Given the description of an element on the screen output the (x, y) to click on. 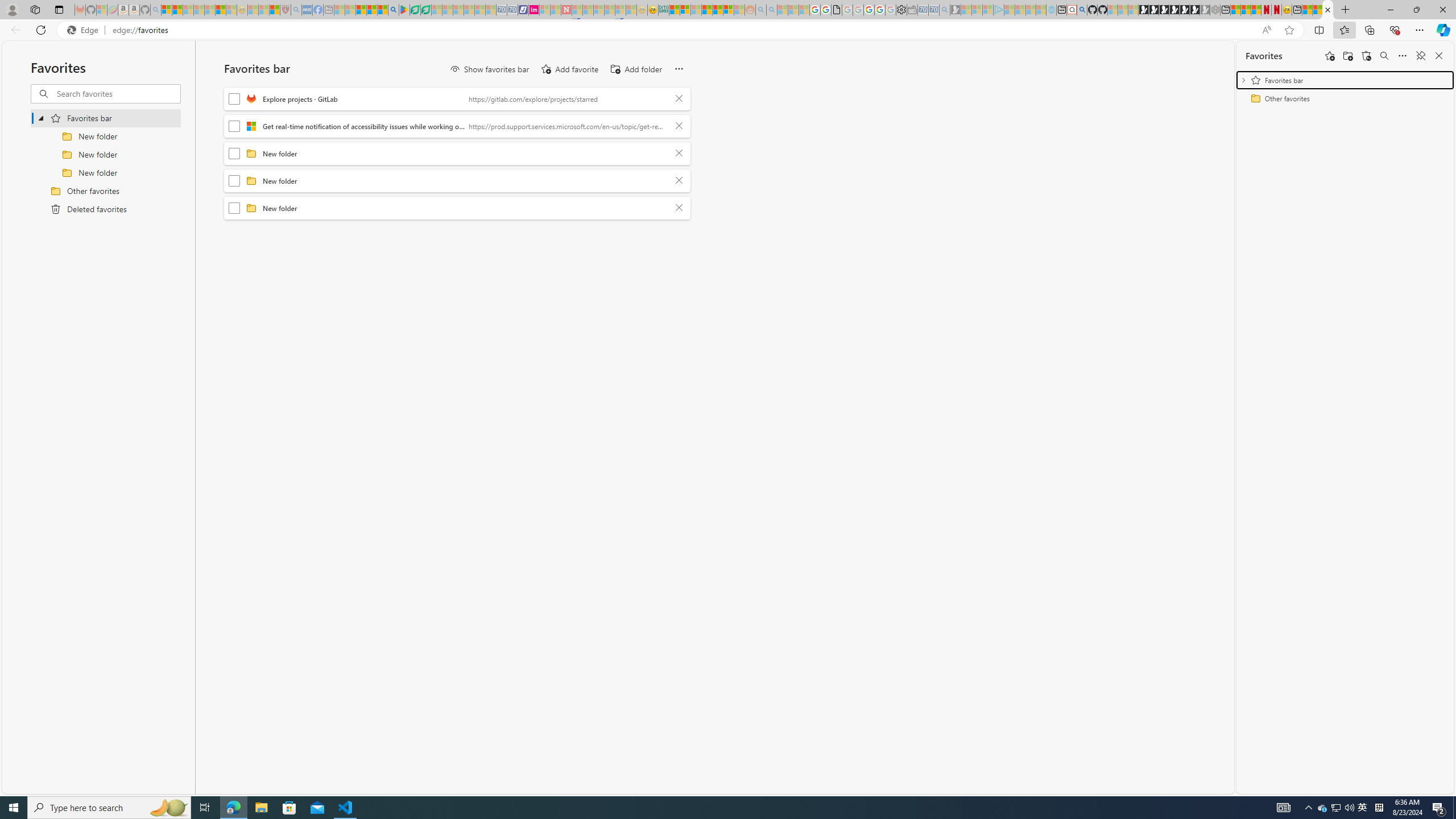
Unpin favorites (1420, 55)
Add folder (1347, 55)
New folder (465, 207)
